Given the description of an element on the screen output the (x, y) to click on. 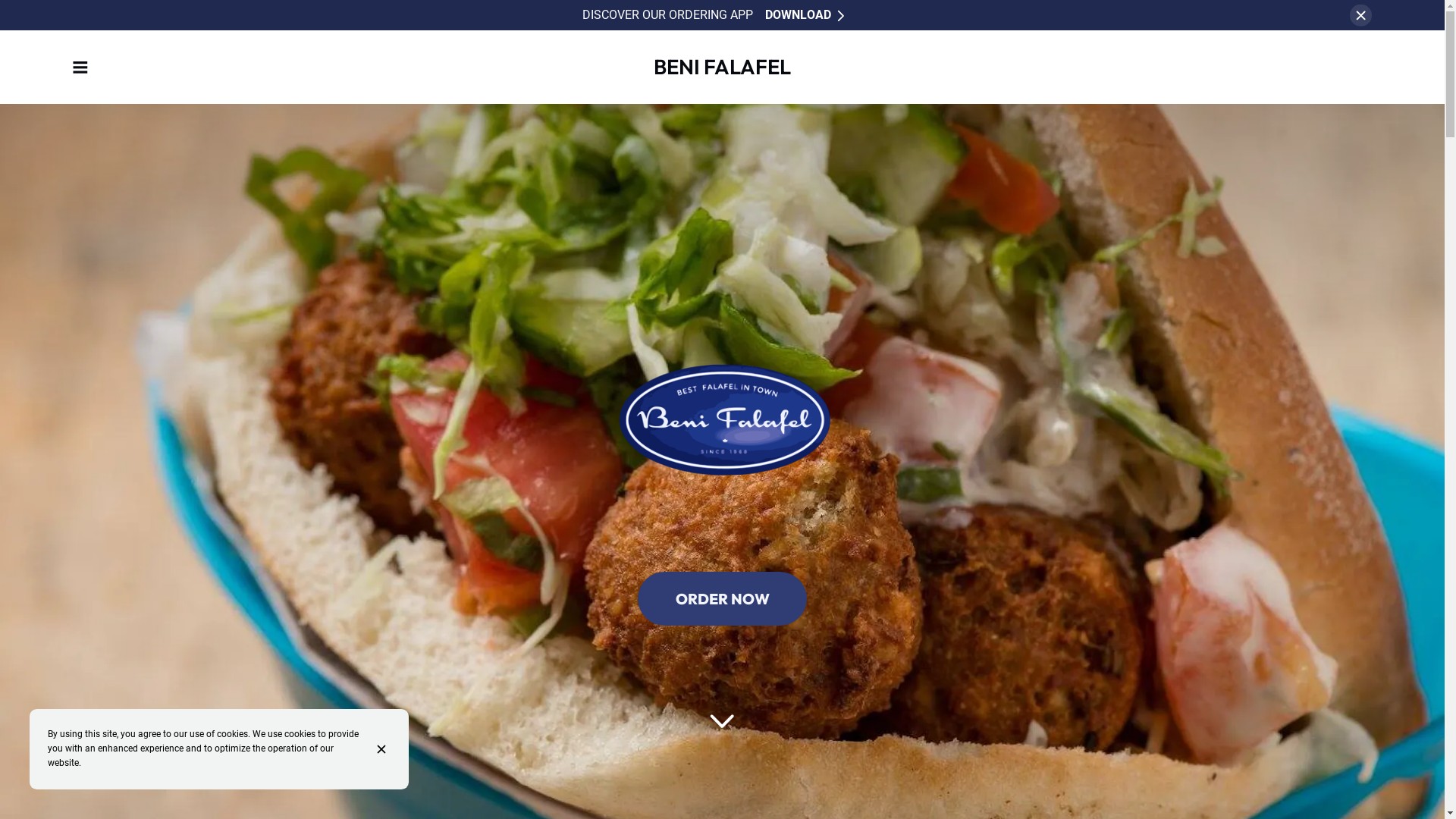
BENI FALAFEL
BENI FALAFEL Element type: text (721, 67)
ORDER NOW Element type: text (721, 598)
Close the cookie information banner Element type: hover (383, 748)
DISCOVER OUR ORDERING APP
DOWNLOAD Element type: text (712, 15)
